Given the description of an element on the screen output the (x, y) to click on. 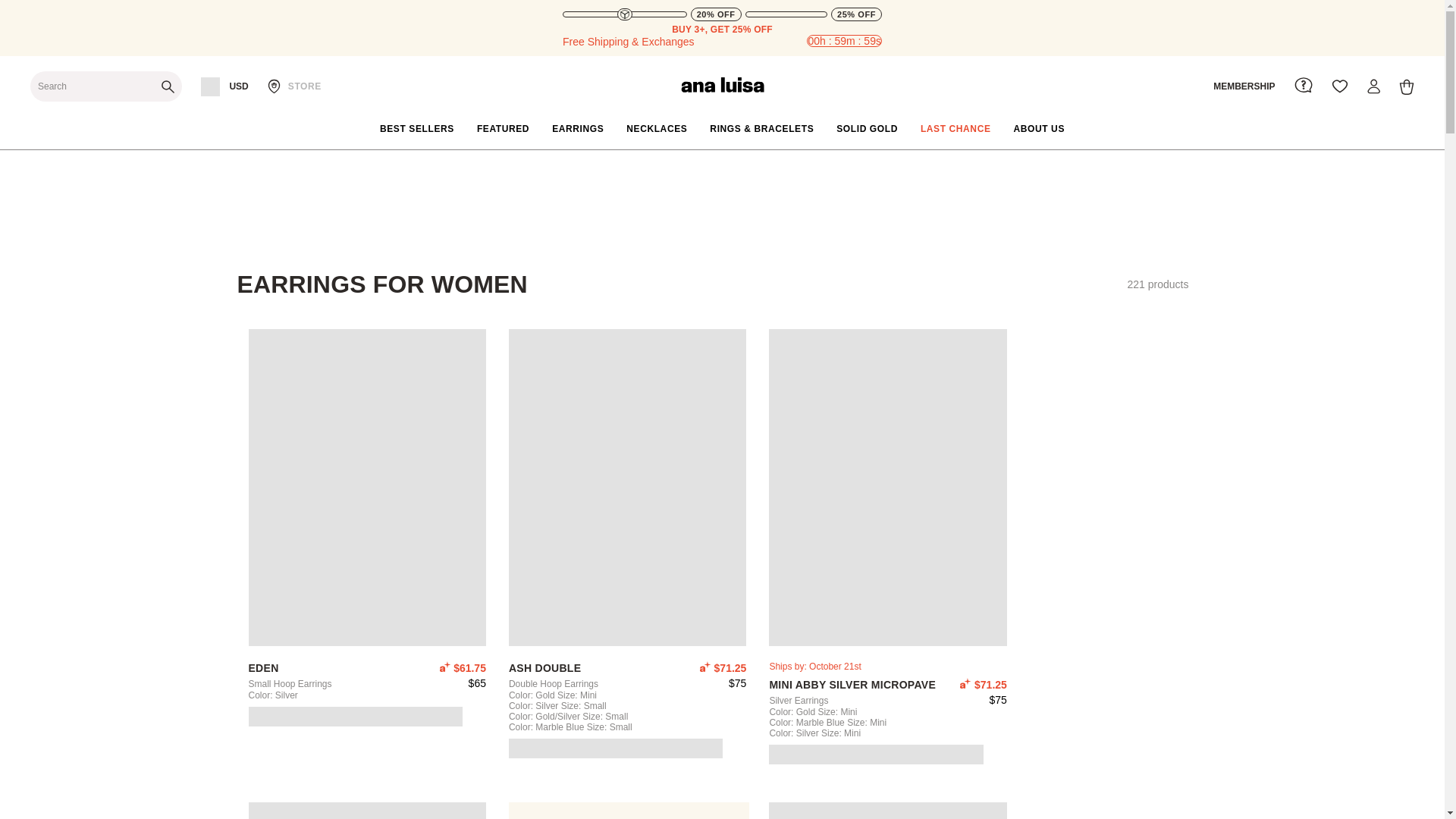
BEST SELLERS (417, 128)
Wishlist (1340, 86)
Search (106, 86)
STORE (294, 86)
